Given the description of an element on the screen output the (x, y) to click on. 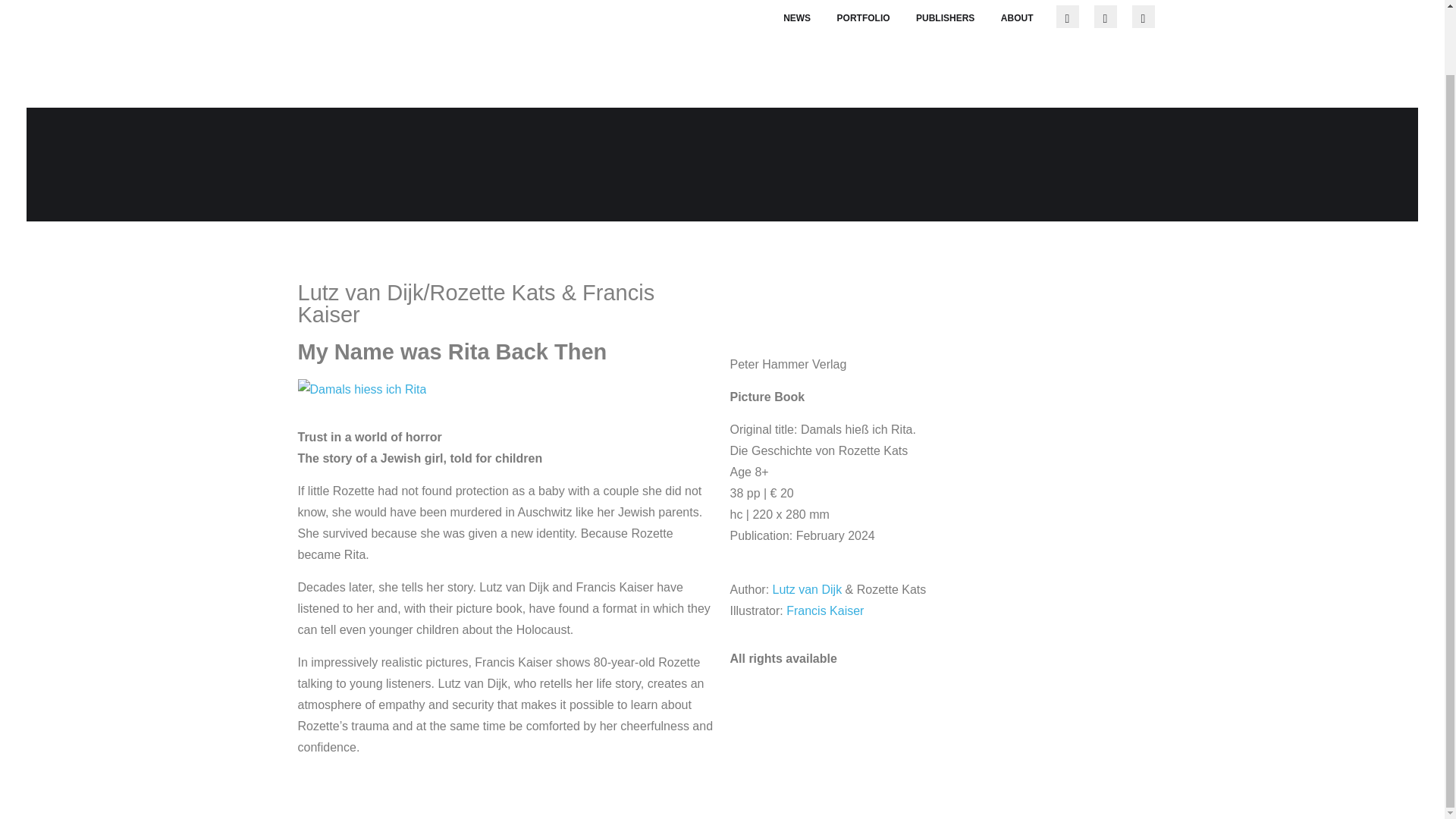
Open new page to look into the book (361, 389)
NEWS (796, 18)
Damals hiess ich Rita (361, 389)
PORTFOLIO (863, 18)
